Given the description of an element on the screen output the (x, y) to click on. 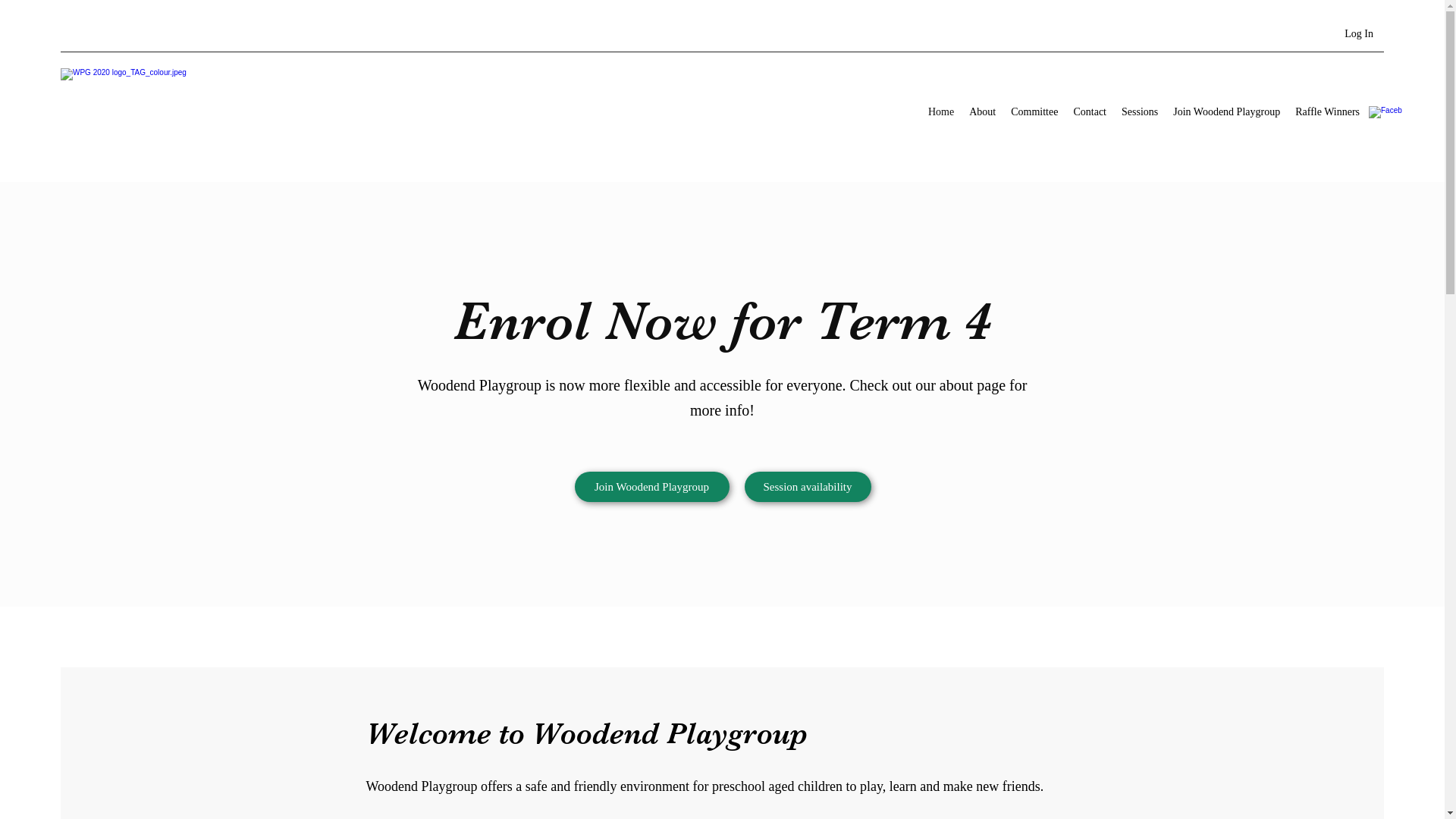
Sessions Element type: text (1139, 113)
Committee Element type: text (1034, 113)
Join Woodend Playgroup Element type: text (651, 486)
Raffle Winners Element type: text (1327, 113)
Home Element type: text (940, 113)
Join Woodend Playgroup Element type: text (1226, 113)
Session availability Element type: text (807, 486)
Log In Element type: text (1358, 33)
About Element type: text (982, 113)
Contact Element type: text (1089, 113)
